Given the description of an element on the screen output the (x, y) to click on. 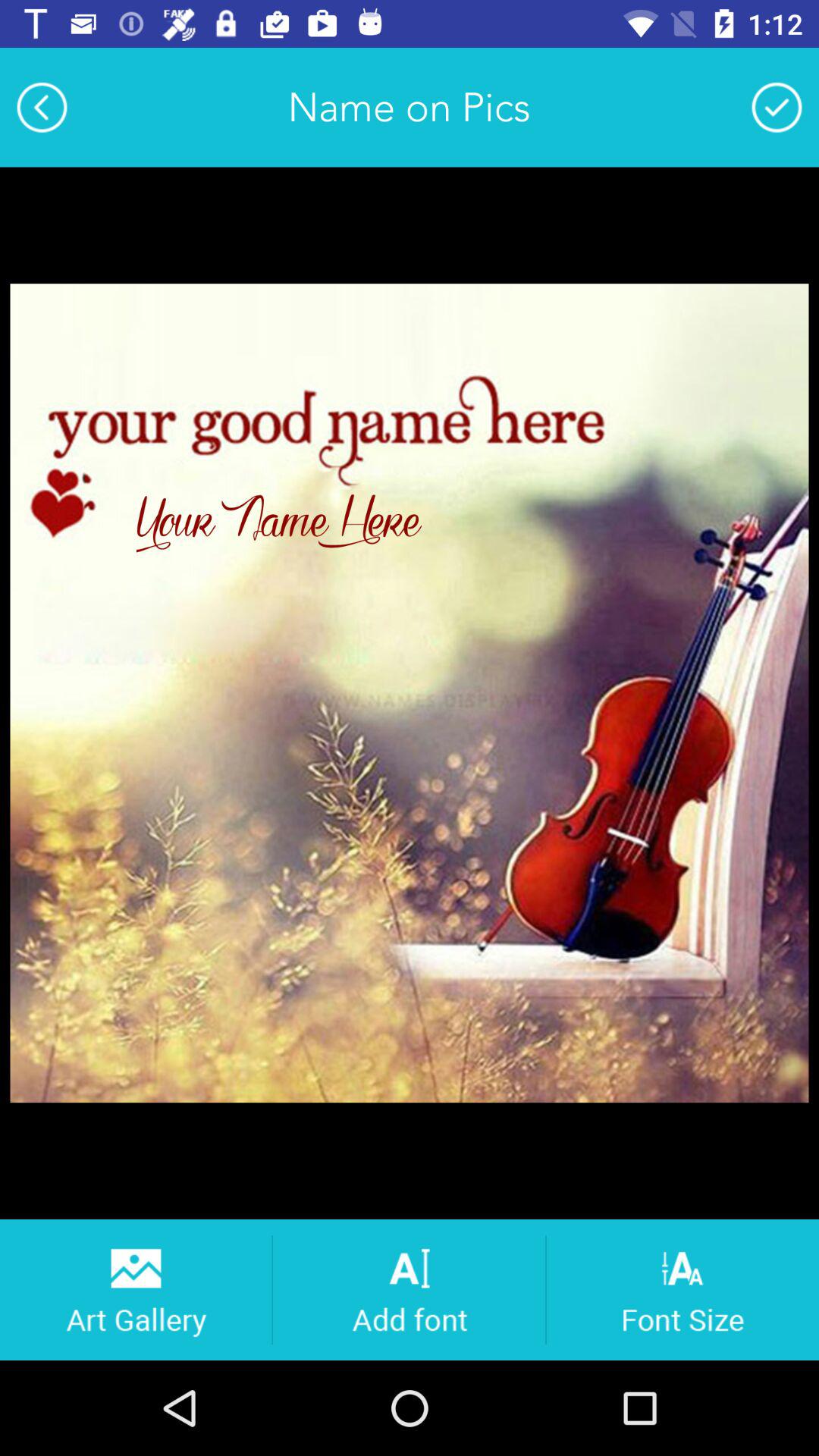
open the icon at the top right corner (776, 107)
